Given the description of an element on the screen output the (x, y) to click on. 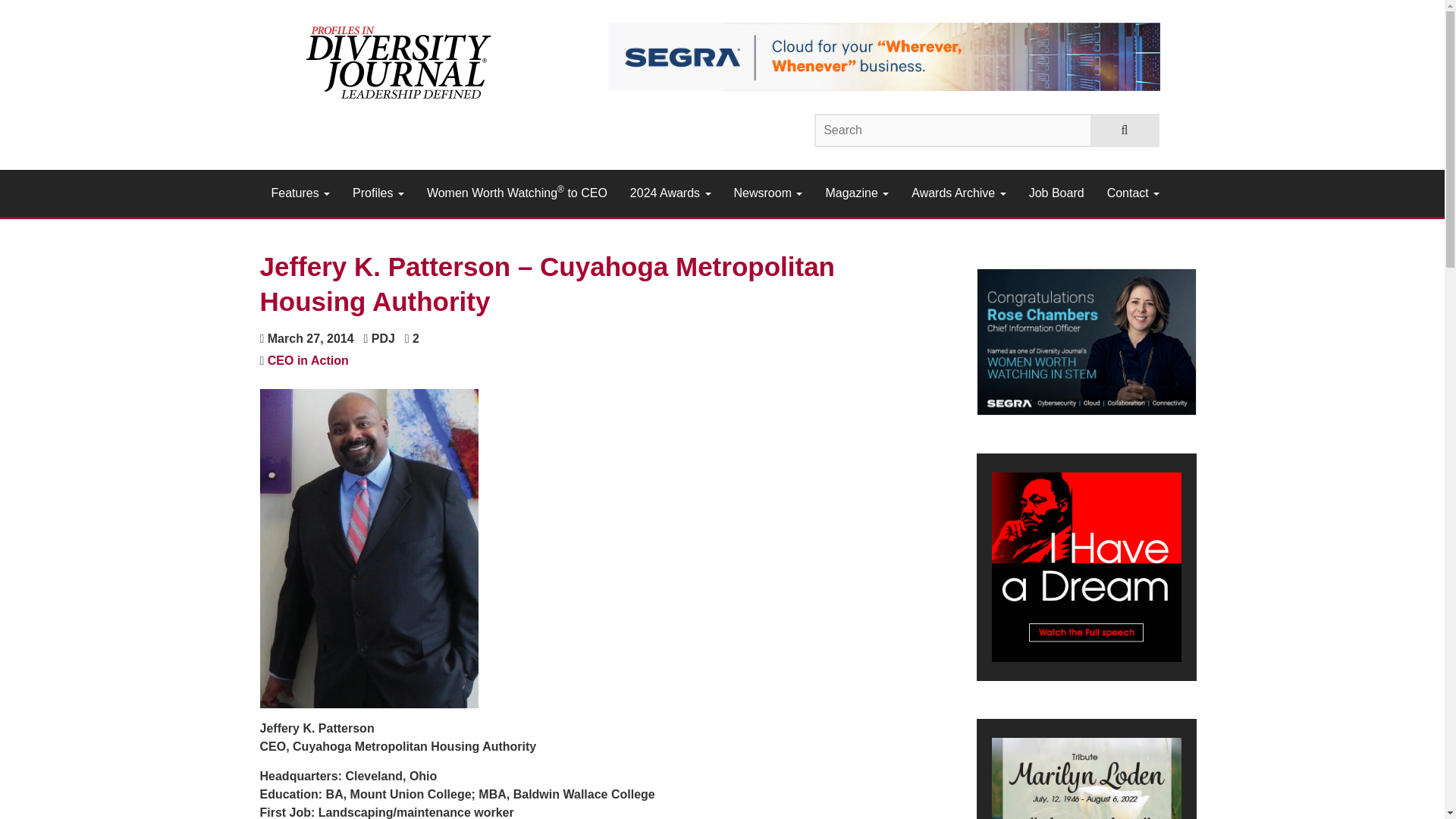
Features (299, 193)
Profiles (377, 193)
Features (299, 193)
Newsroom (767, 193)
2024 Awards (670, 193)
Profiles (377, 193)
